Given the description of an element on the screen output the (x, y) to click on. 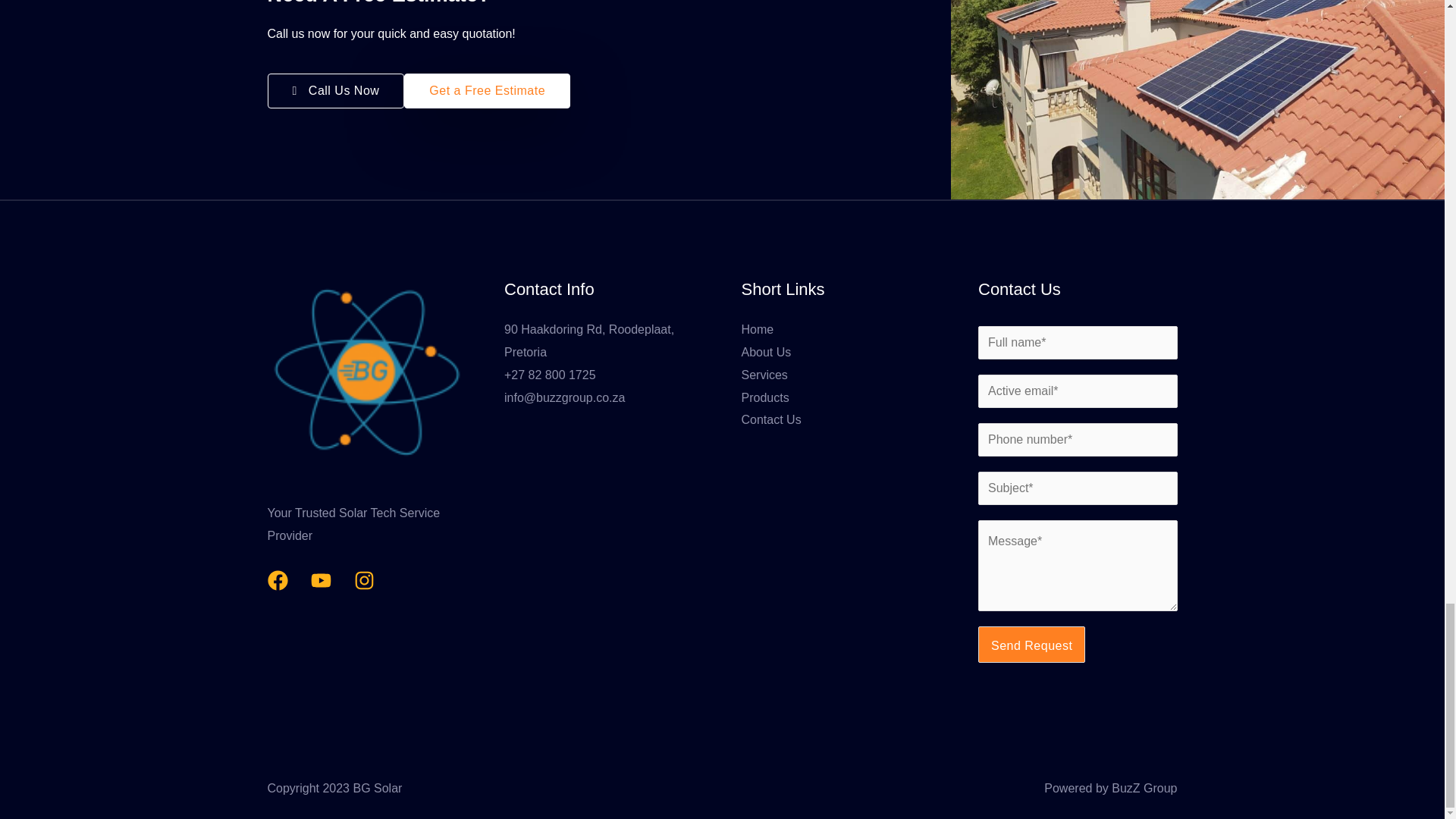
Services (764, 374)
Contact Us (771, 419)
Send Request (1031, 644)
Get a Free Estimate (487, 90)
Home (757, 328)
Call Us Now (335, 90)
Products (765, 397)
90 Haakdoring Rd, Roodeplaat, Pretoria (588, 340)
About Us (766, 351)
